Given the description of an element on the screen output the (x, y) to click on. 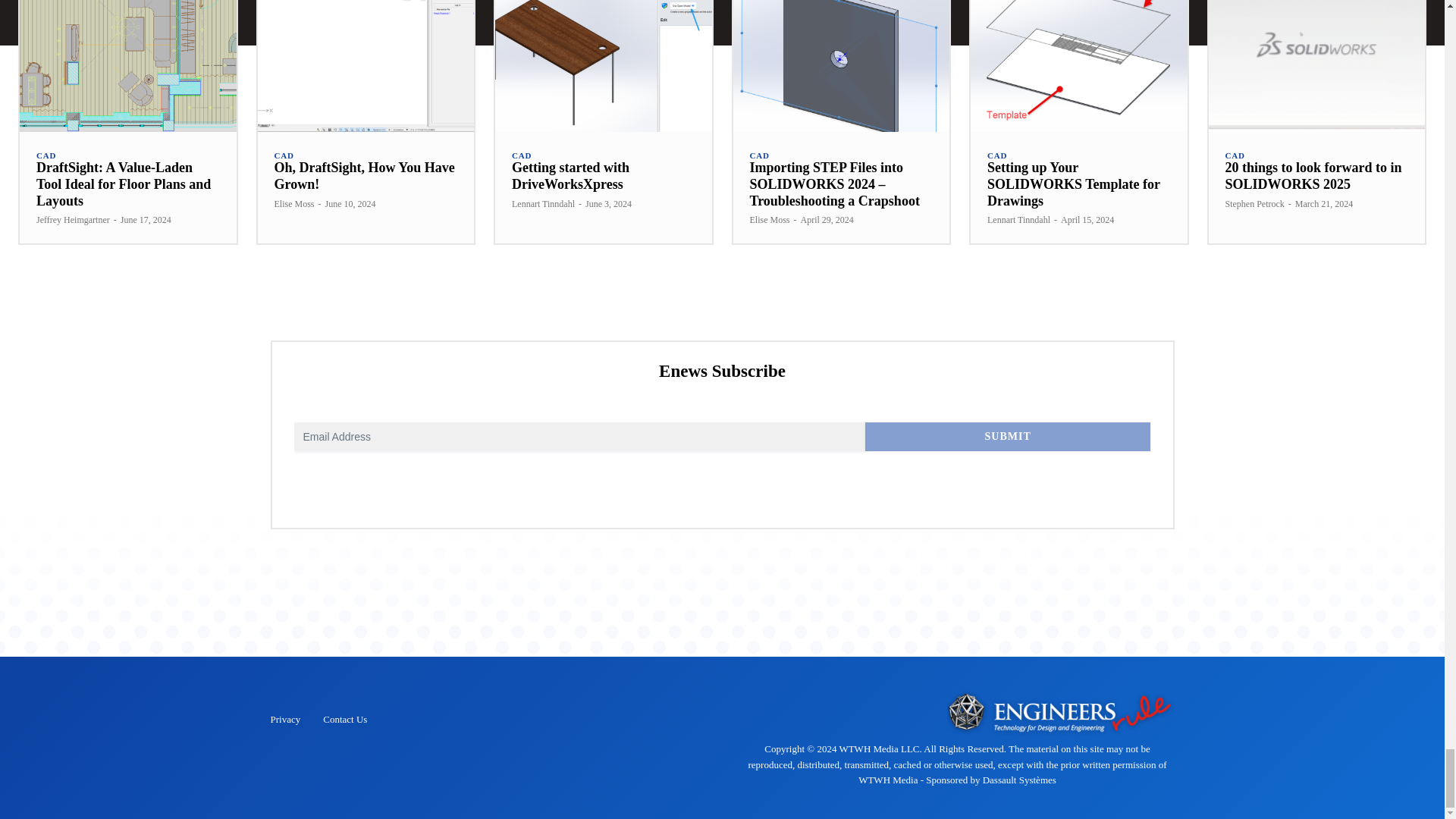
Oh, DraftSight, How You Have Grown! (365, 65)
Getting started with DriveWorksXpress (603, 65)
Oh, DraftSight, How You Have Grown! (364, 175)
Submit (1007, 436)
